Given the description of an element on the screen output the (x, y) to click on. 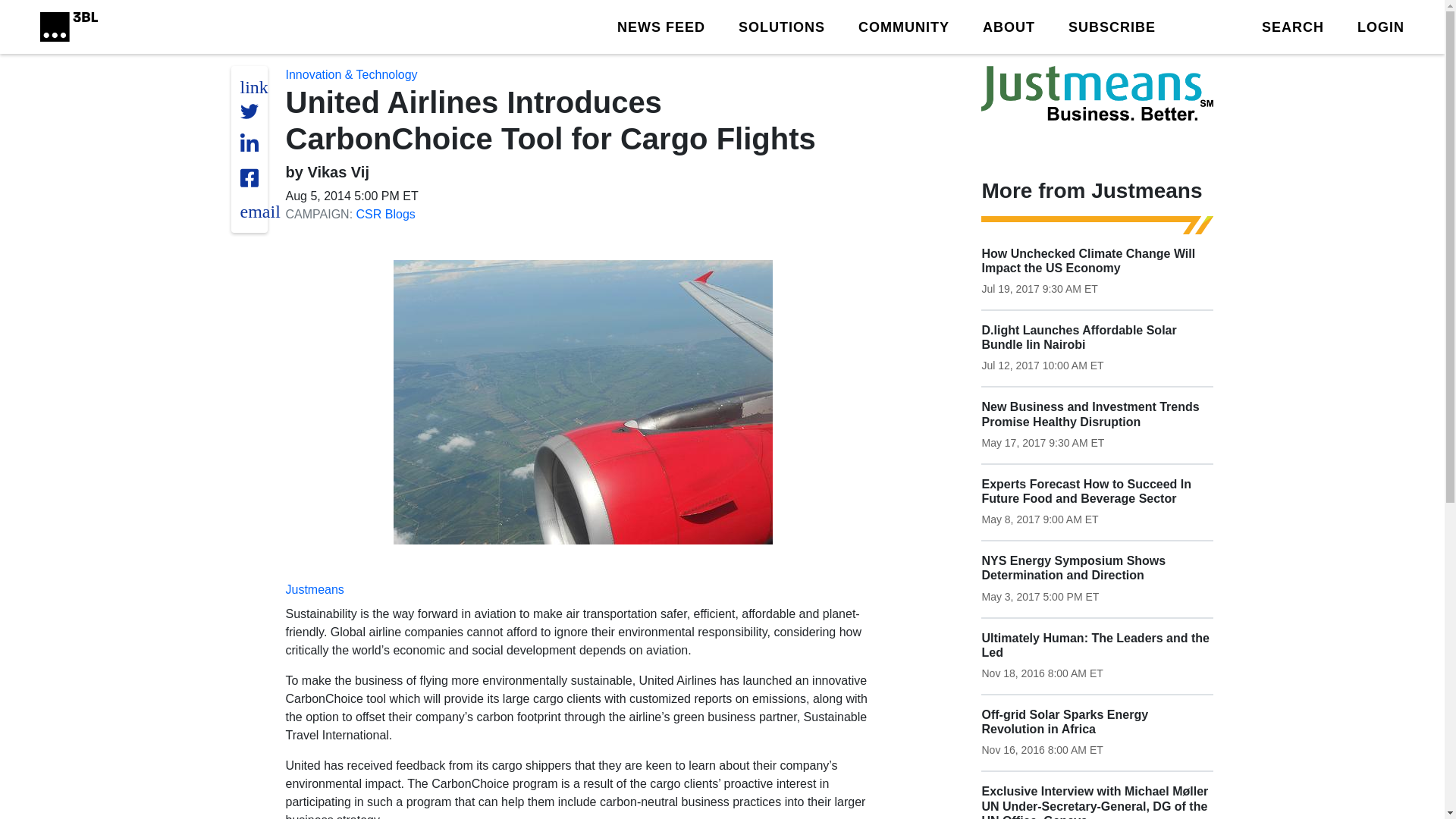
SUBSCRIBE (1112, 26)
SOLUTIONS (781, 26)
link to 3 B L Media's Twitter (253, 87)
NEWS FEED (660, 26)
ABOUT (1008, 26)
COMMUNITY (904, 26)
Share via email (259, 211)
